Given the description of an element on the screen output the (x, y) to click on. 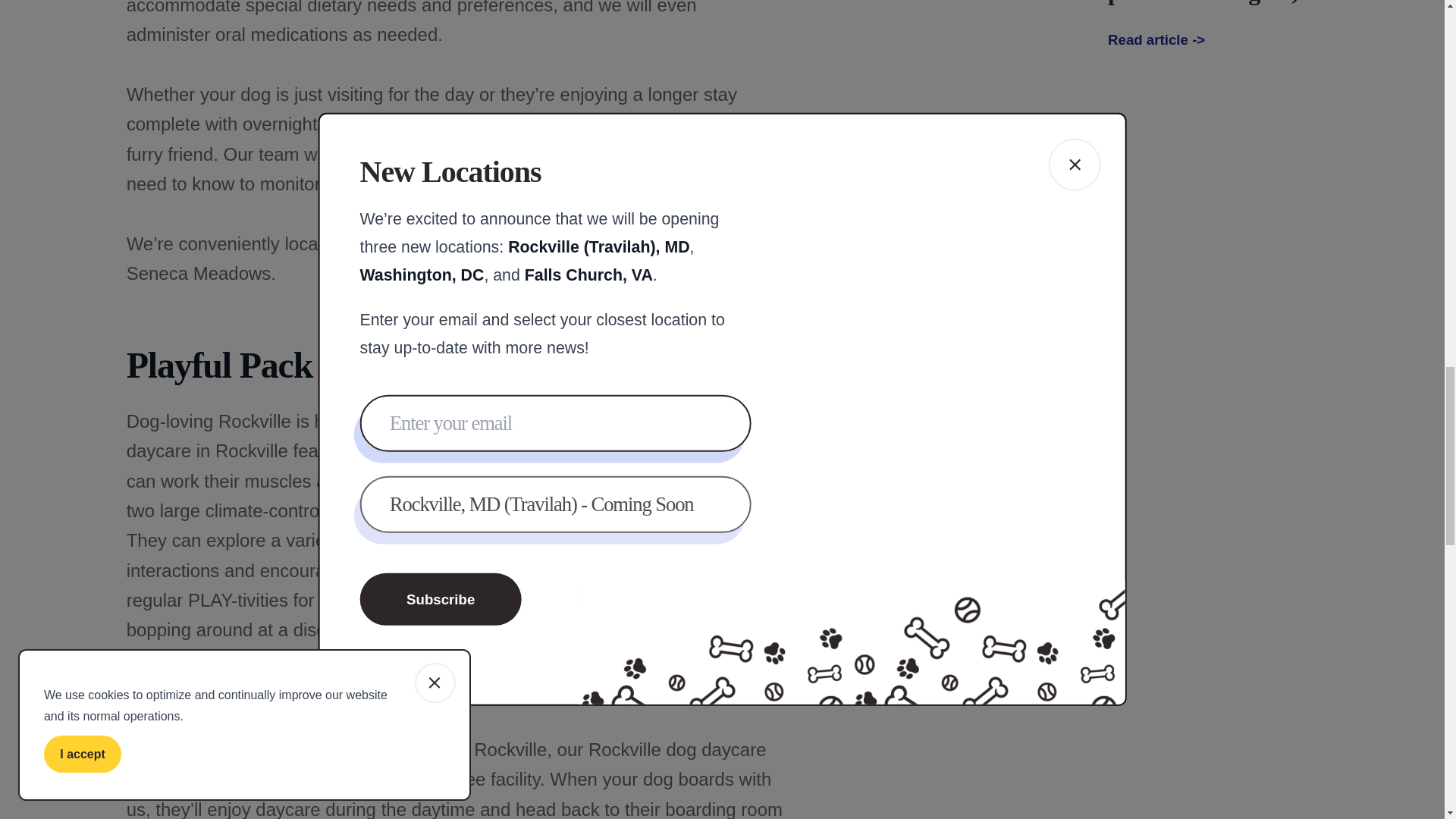
Dog friendly activities and places in Arlington, VA (1249, 2)
